Given the description of an element on the screen output the (x, y) to click on. 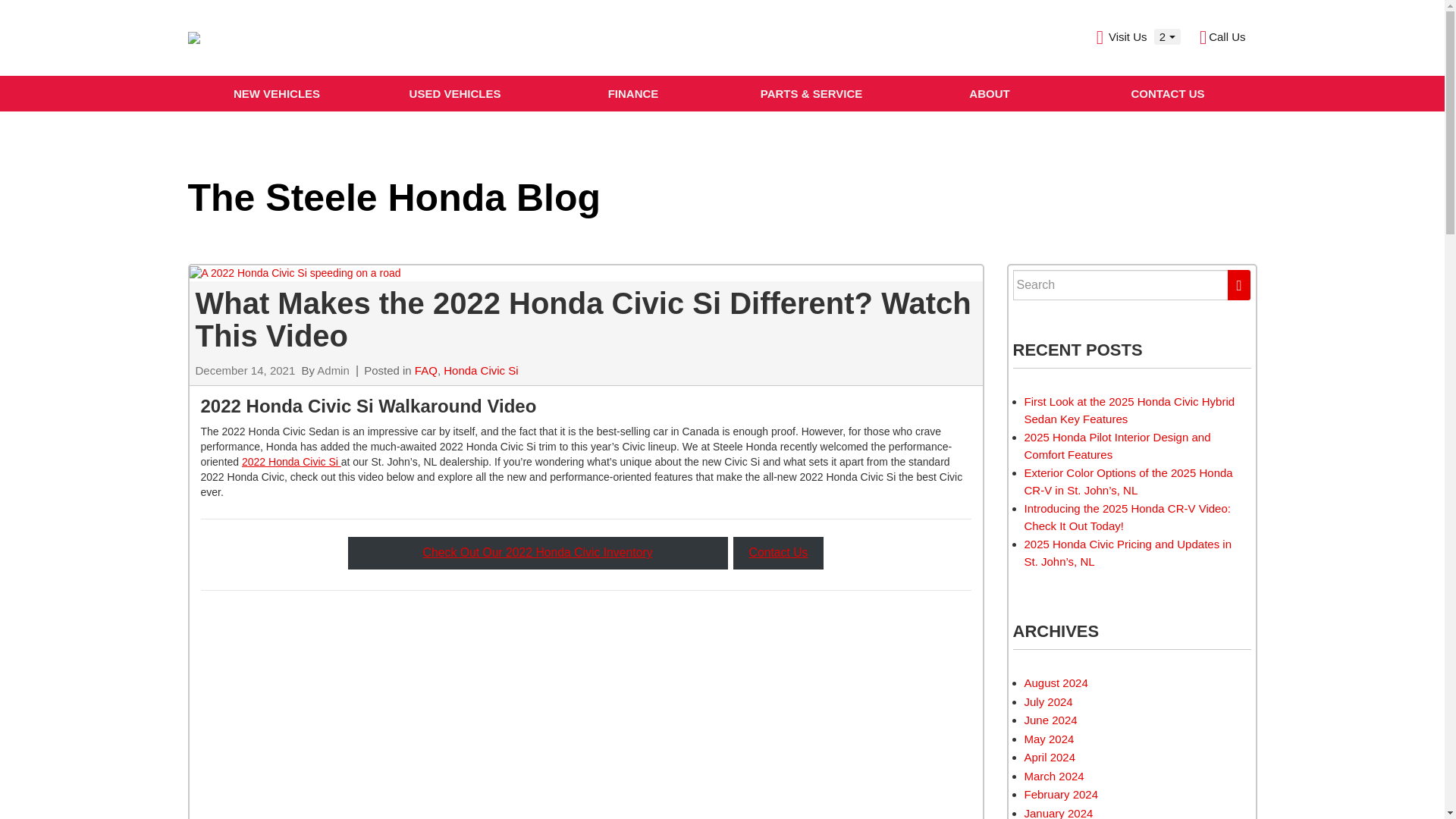
NEW VEHICLES (276, 93)
The All New 2022 Civic Si Walkaround Video (379, 709)
FINANCE (633, 93)
Call Us (1221, 37)
USED VEHICLES (454, 93)
Visit Us 2 (1138, 37)
Steele Honda (193, 37)
